Given the description of an element on the screen output the (x, y) to click on. 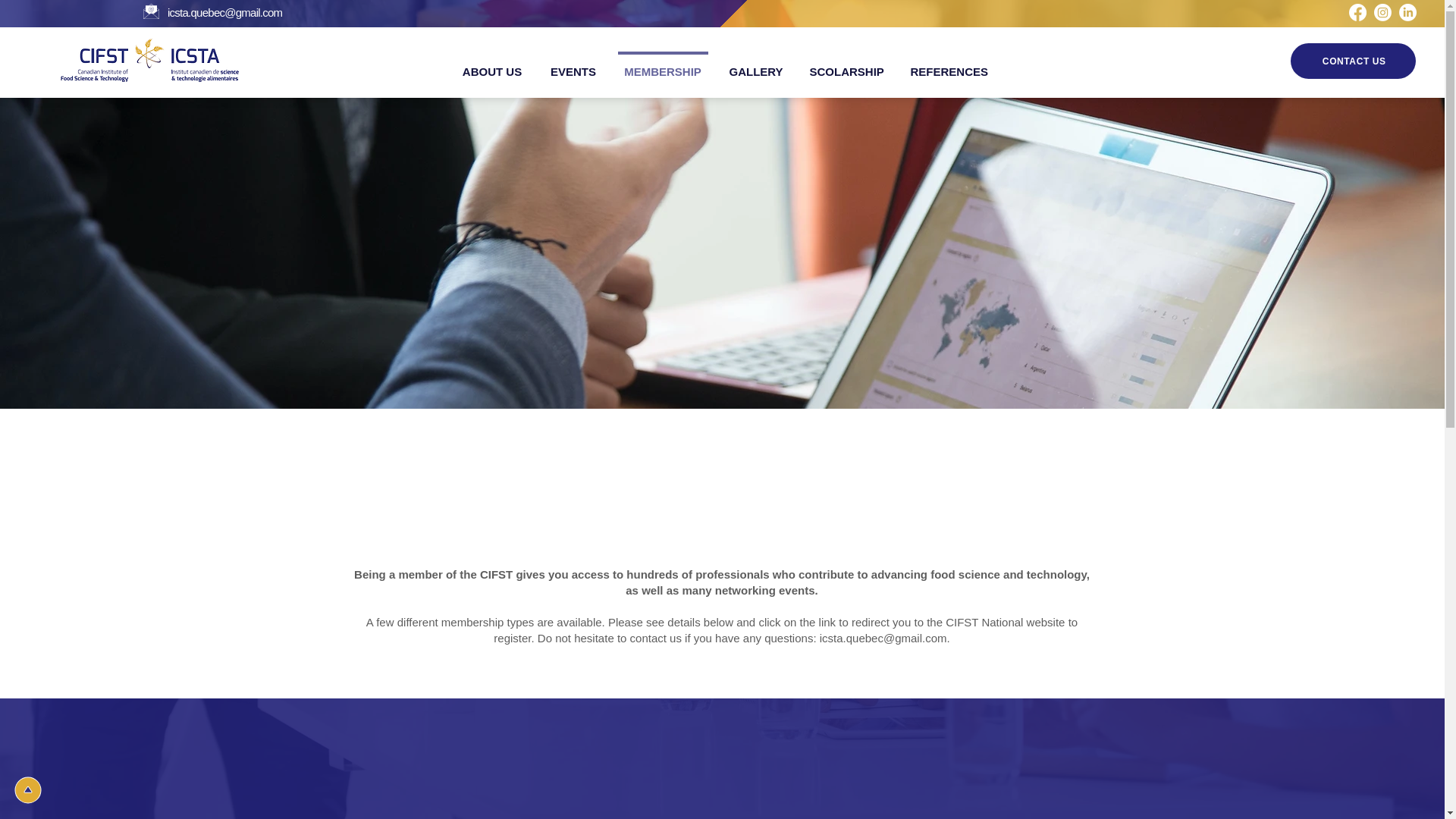
ABOUT US (490, 64)
REFERENCES (945, 64)
MEMBERSHIP (662, 64)
SCOLARSHIP (846, 64)
EVENTS (573, 64)
GALLERY (756, 64)
CONTACT US (1352, 60)
